Given the description of an element on the screen output the (x, y) to click on. 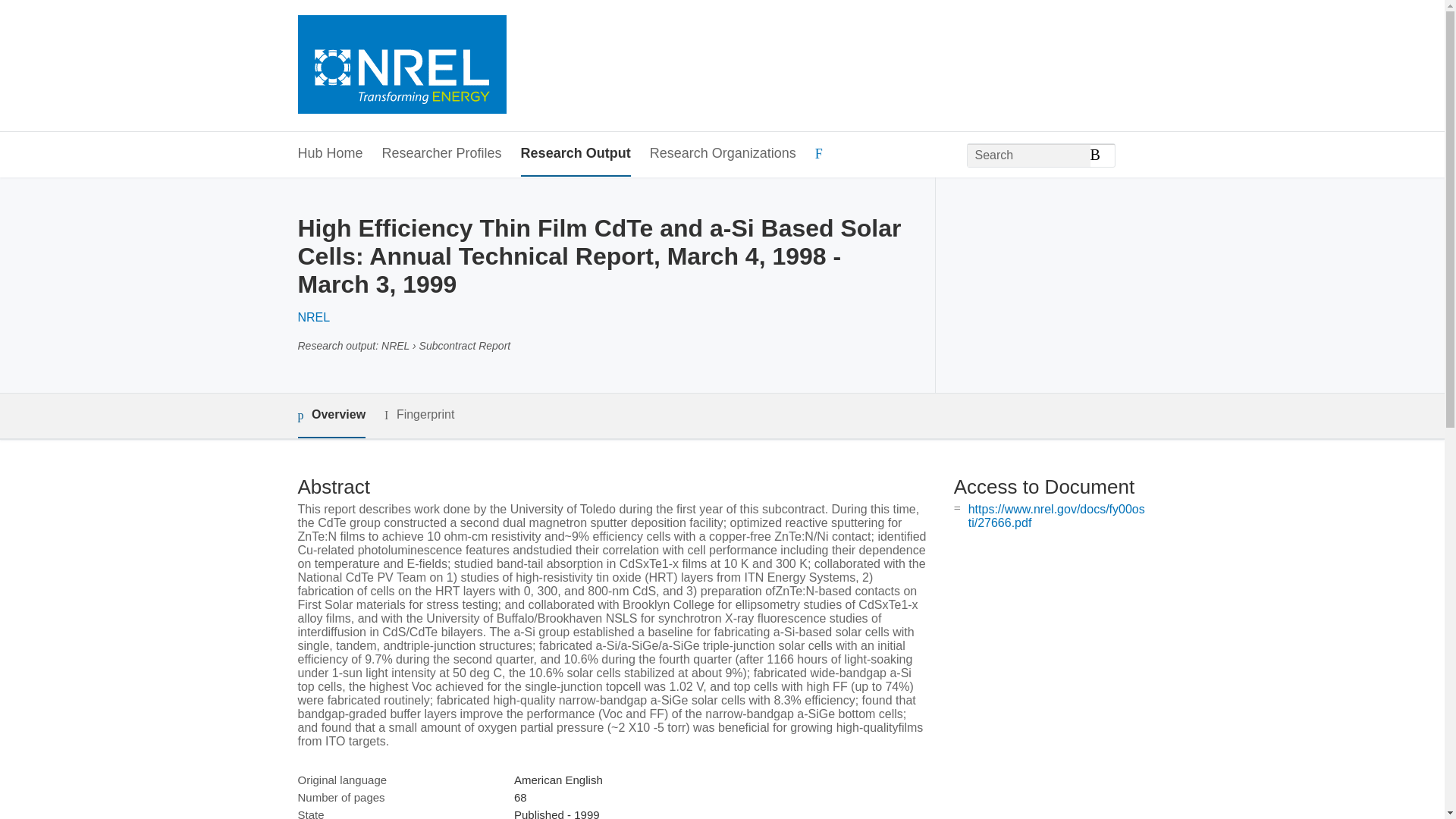
Fingerprint (419, 414)
Researcher Profiles (441, 153)
Hub Home (329, 153)
NREL (313, 317)
Overview (331, 415)
Research Organizations (722, 153)
National Renewable Energy Laboratory Hub Home (401, 66)
Research Output (575, 153)
